Given the description of an element on the screen output the (x, y) to click on. 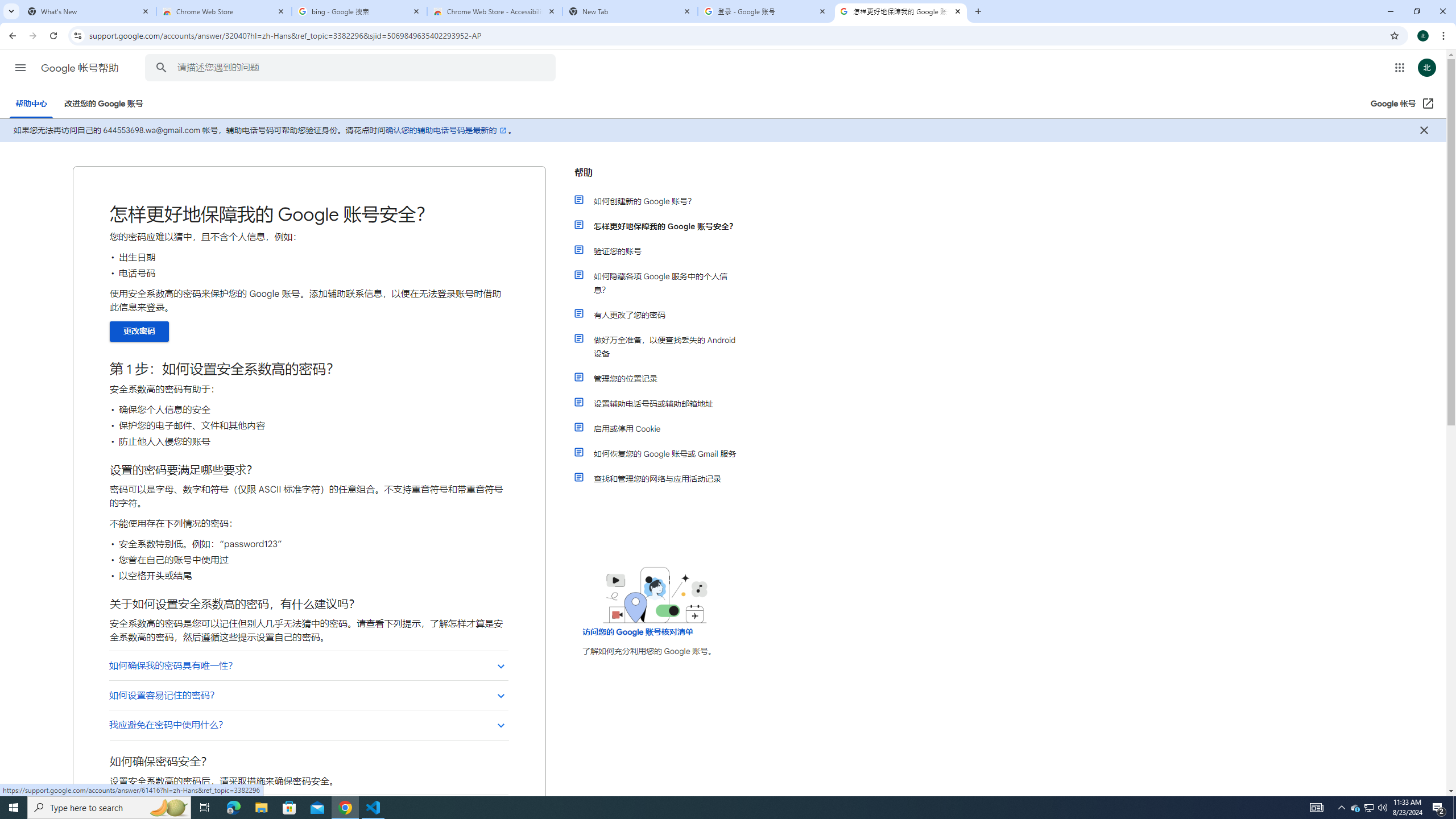
Chrome Web Store - Accessibility (494, 11)
